Given the description of an element on the screen output the (x, y) to click on. 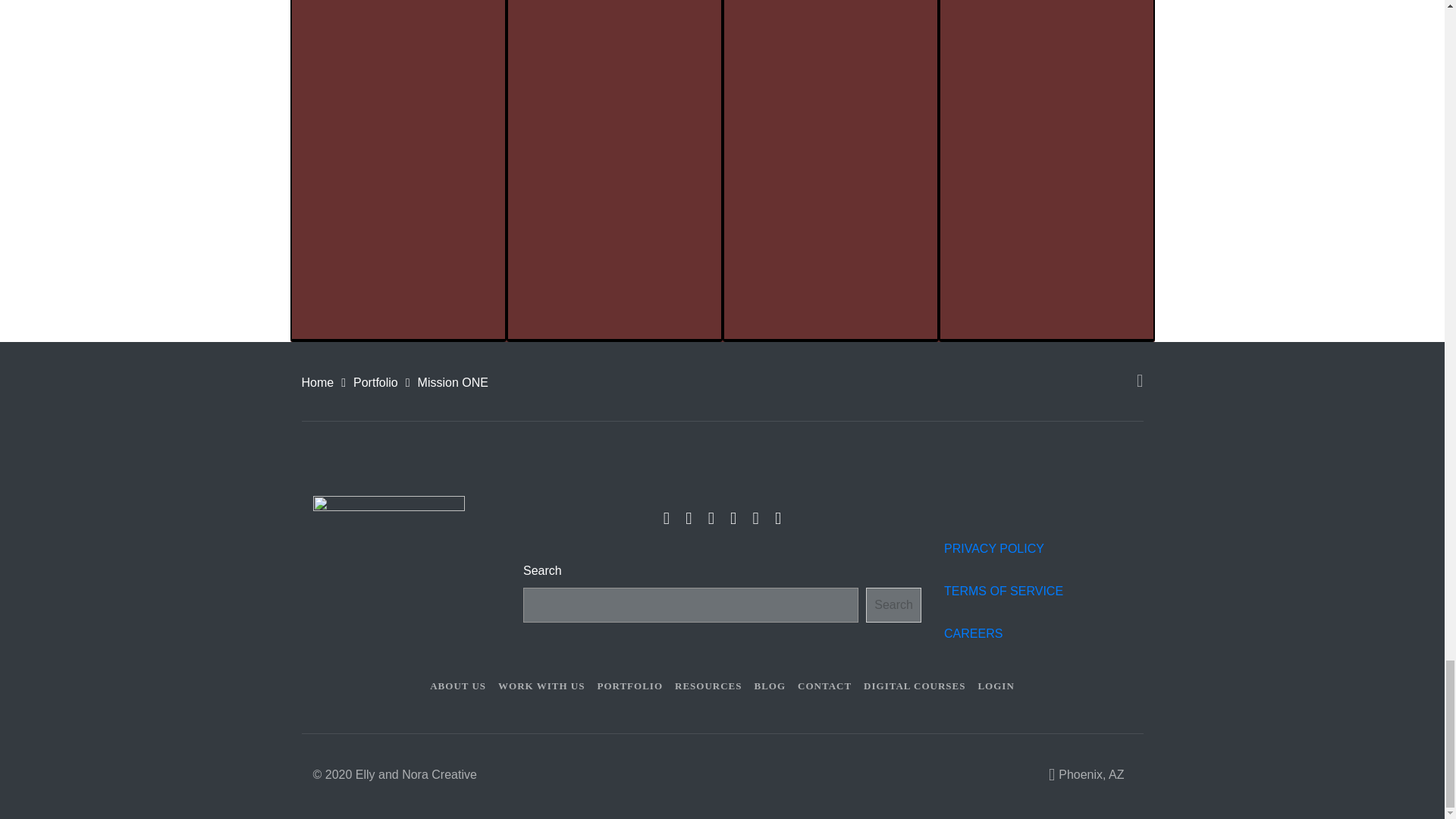
PRIVACY POLICY   (997, 548)
CAREERS  (974, 633)
RESOURCES (708, 685)
WORK WITH US (541, 685)
LOGIN (995, 685)
ABOUT US (457, 685)
CONTACT (824, 685)
PORTFOLIO (629, 685)
Search (893, 605)
DIGITAL COURSES (914, 685)
Portfolio (375, 382)
BLOG (770, 685)
Home (317, 382)
TERMS OF SERVICE (1002, 590)
